Given the description of an element on the screen output the (x, y) to click on. 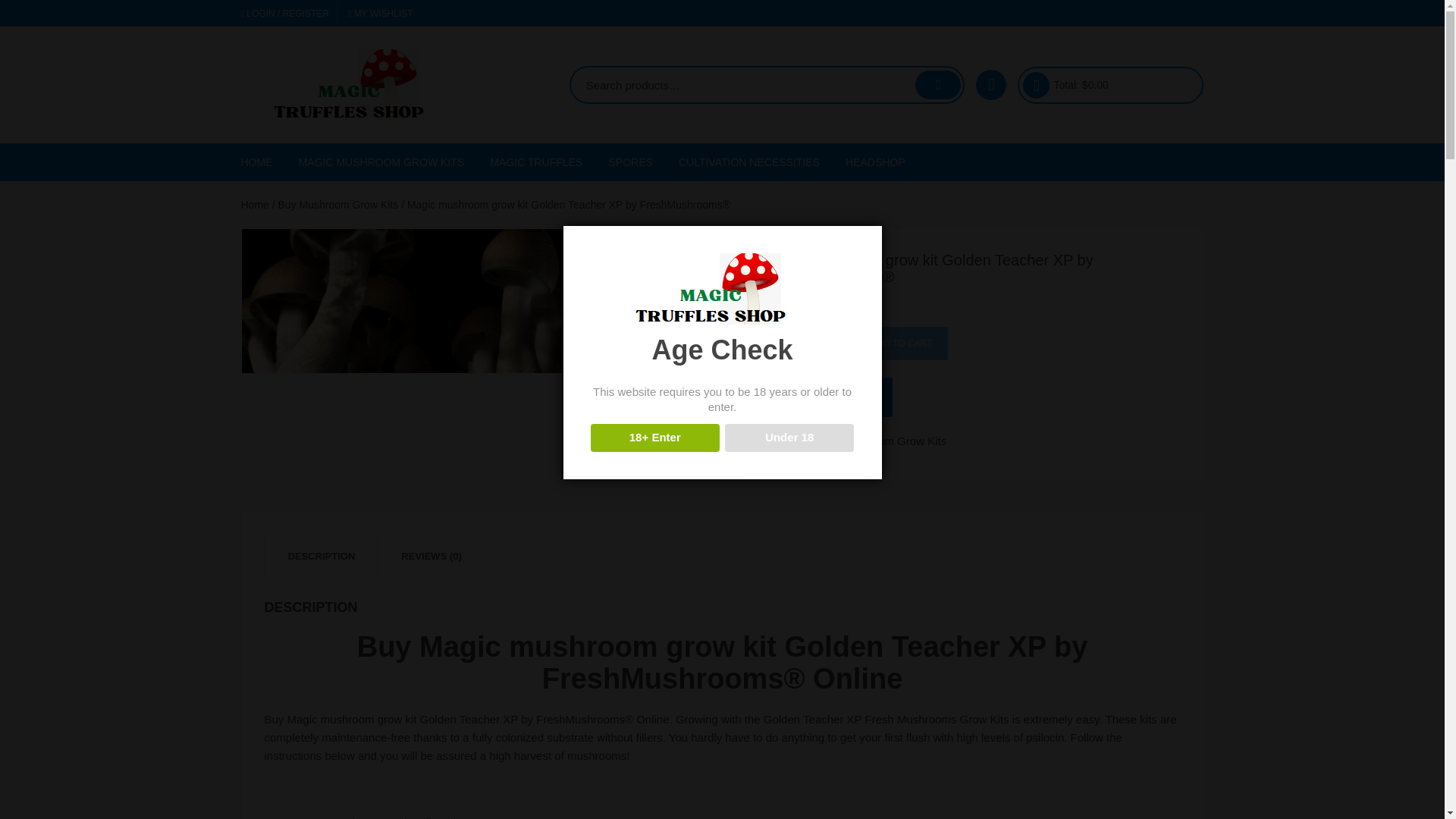
CULTIVATION NECESSITIES (748, 161)
Temperature (761, 308)
MY WISHLIST (380, 13)
Pipes (928, 308)
Rolling Papers (928, 344)
Spores Panaeolus Cyanescens (691, 356)
Substrate (761, 235)
Spore Vials Psilocybe Cubensis (691, 259)
HEADSHOP (875, 161)
Containers (761, 198)
Grow Kits without Mycelium (381, 303)
Scales (761, 271)
MAGIC MUSHROOM GROW KITS (381, 161)
Vaporizers (928, 380)
Grinders (928, 271)
